Given the description of an element on the screen output the (x, y) to click on. 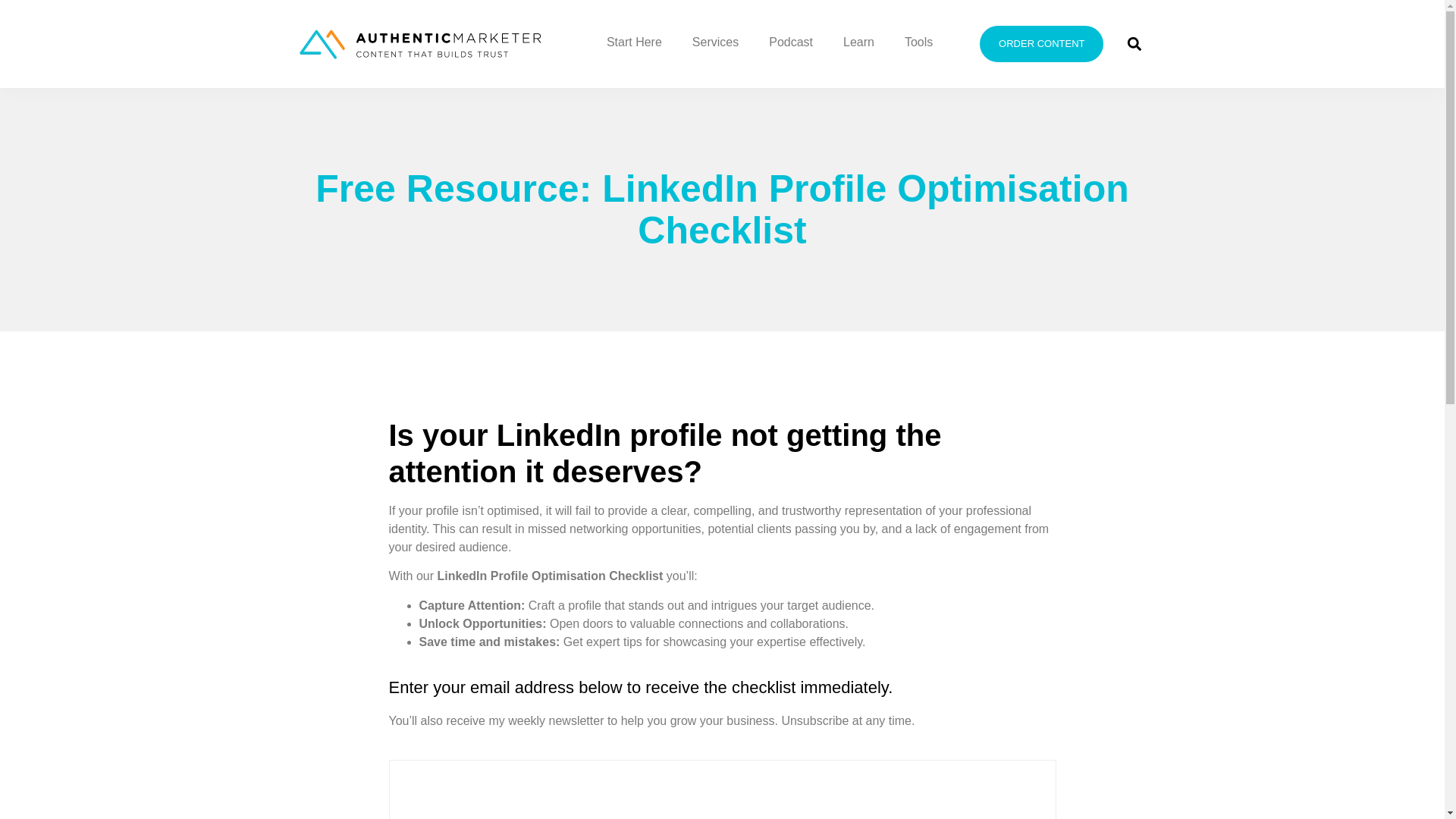
Tools (918, 42)
ORDER CONTENT (1041, 43)
Start Here (634, 42)
Services (715, 42)
Learn (858, 42)
Podcast (791, 42)
